Given the description of an element on the screen output the (x, y) to click on. 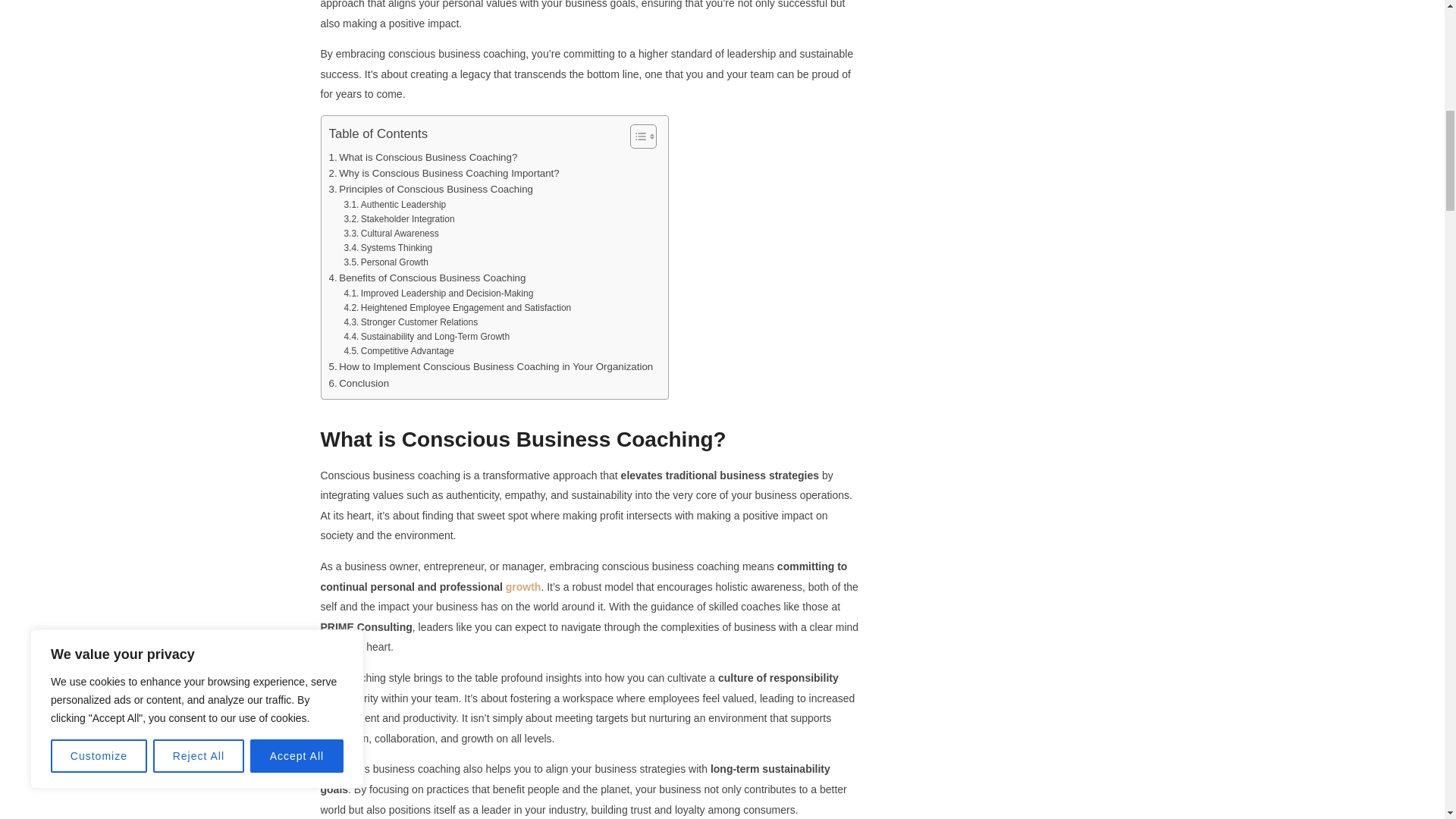
Authentic Leadership (394, 205)
What is Conscious Business Coaching? (423, 157)
Principles of Conscious Business Coaching (431, 188)
Stakeholder Integration (398, 219)
Why is Conscious Business Coaching Important? (444, 172)
Cultural Awareness (390, 233)
